Given the description of an element on the screen output the (x, y) to click on. 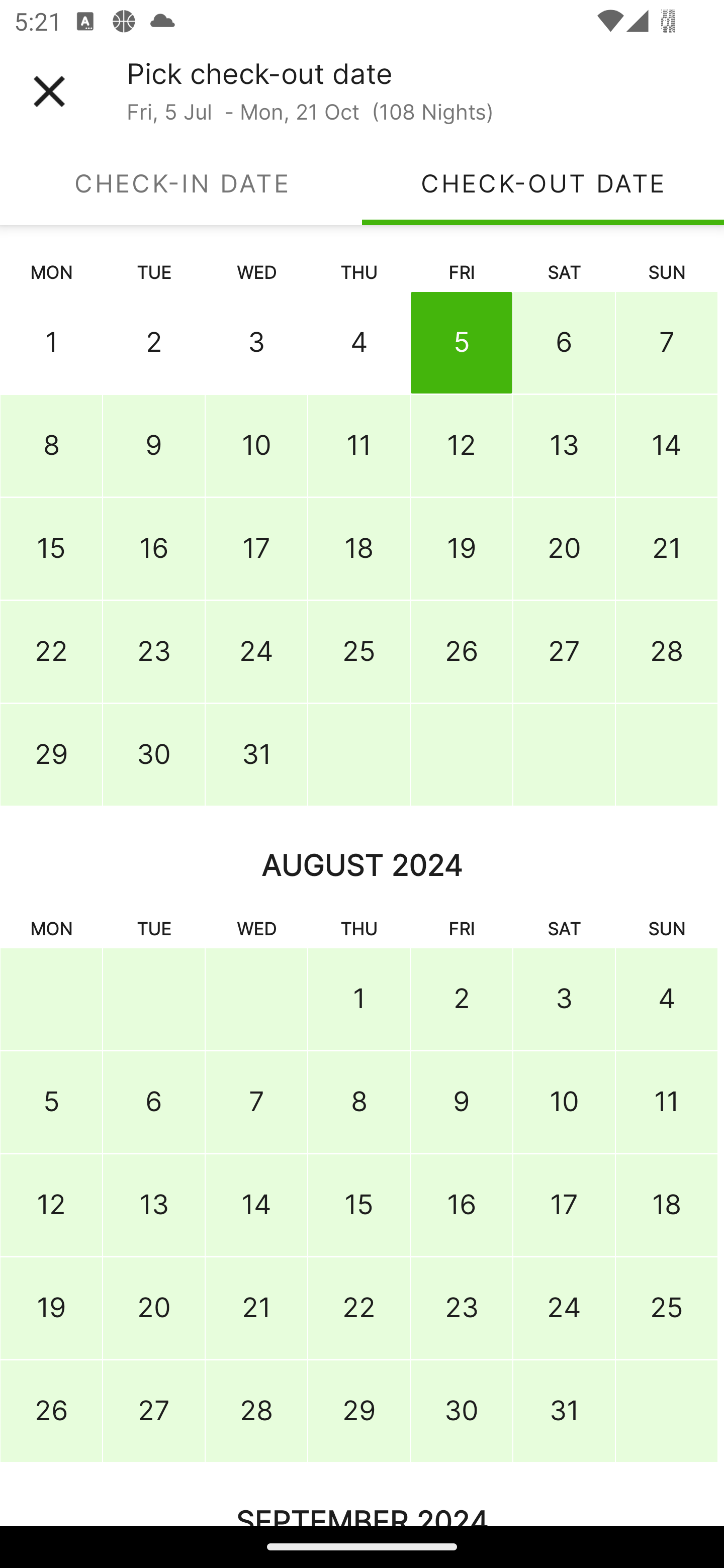
Check-in Date CHECK-IN DATE (181, 183)
